Given the description of an element on the screen output the (x, y) to click on. 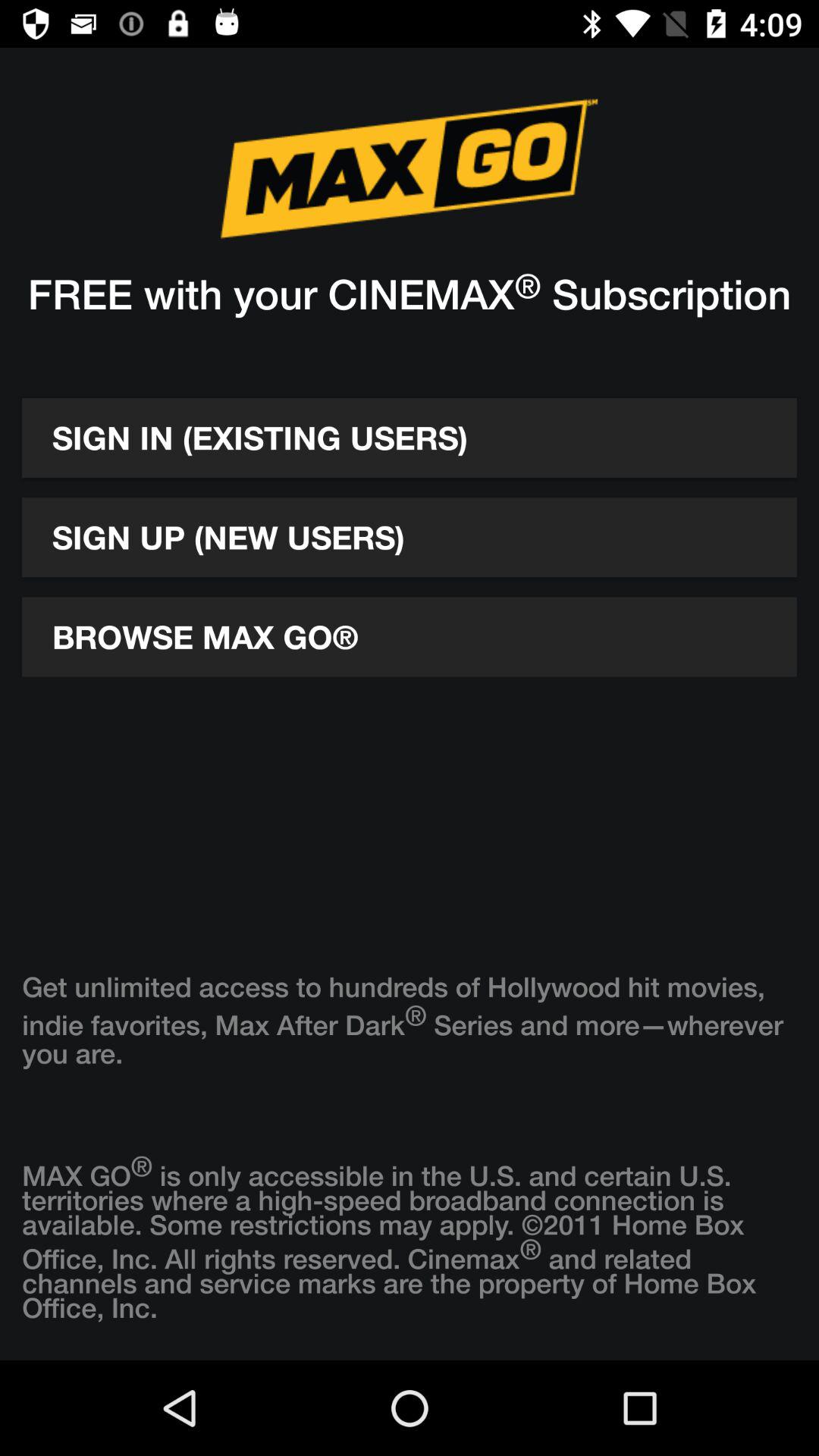
press sign up new icon (409, 537)
